Given the description of an element on the screen output the (x, y) to click on. 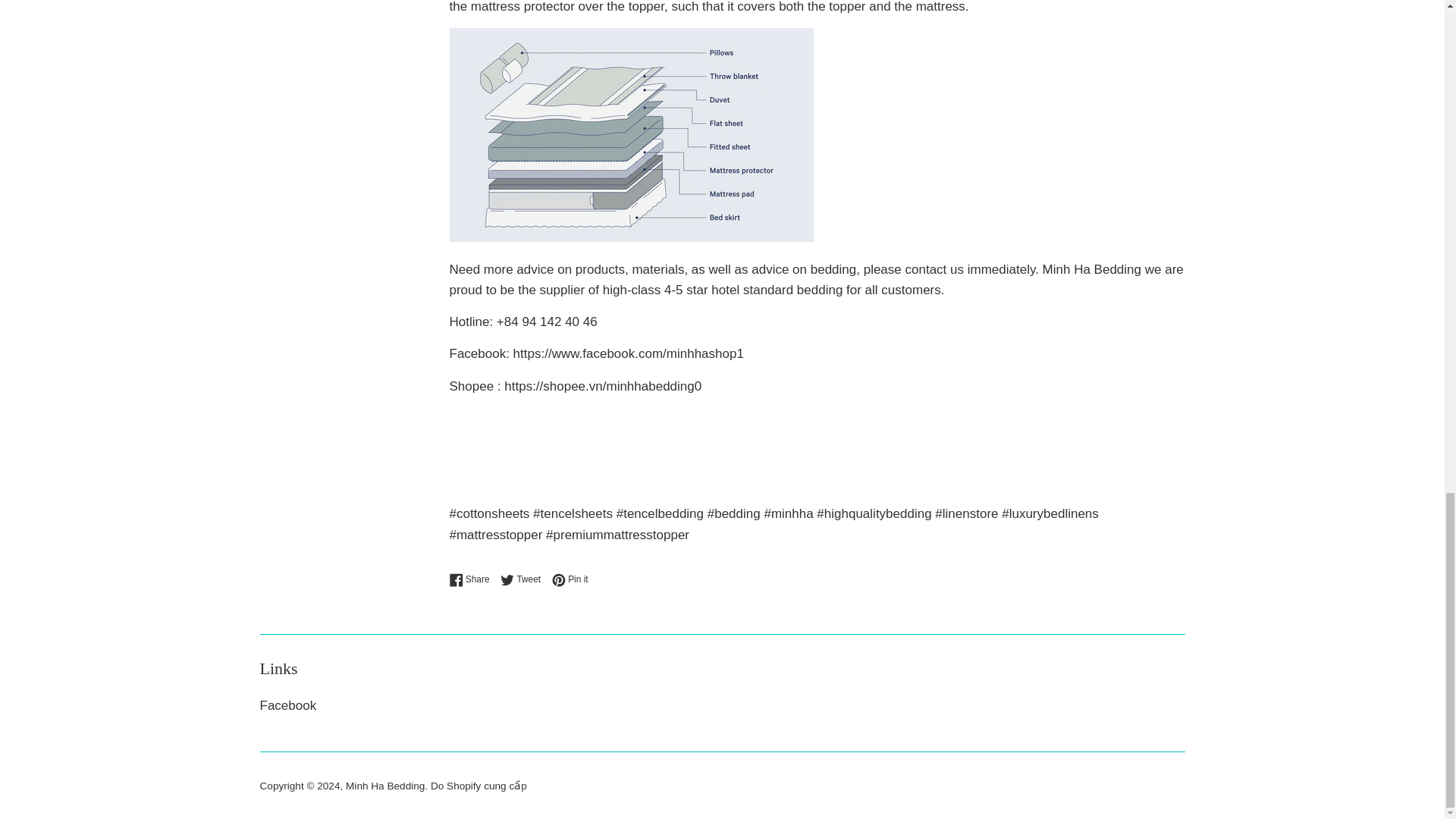
Pin on Pinterest (569, 579)
Share on Facebook (472, 579)
Tweet on Twitter (524, 579)
